Given the description of an element on the screen output the (x, y) to click on. 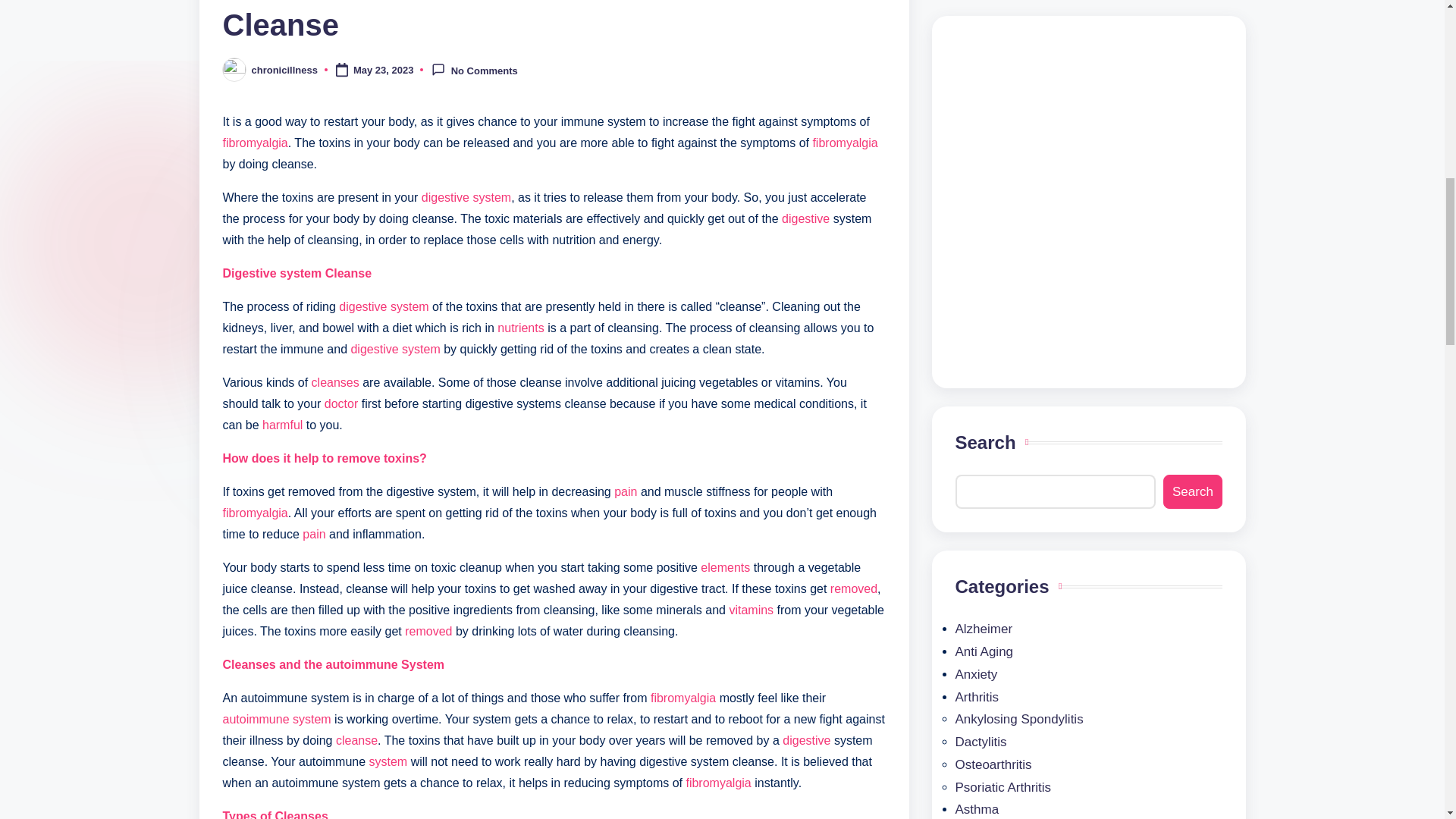
View all posts by chronicillness (284, 70)
